Given the description of an element on the screen output the (x, y) to click on. 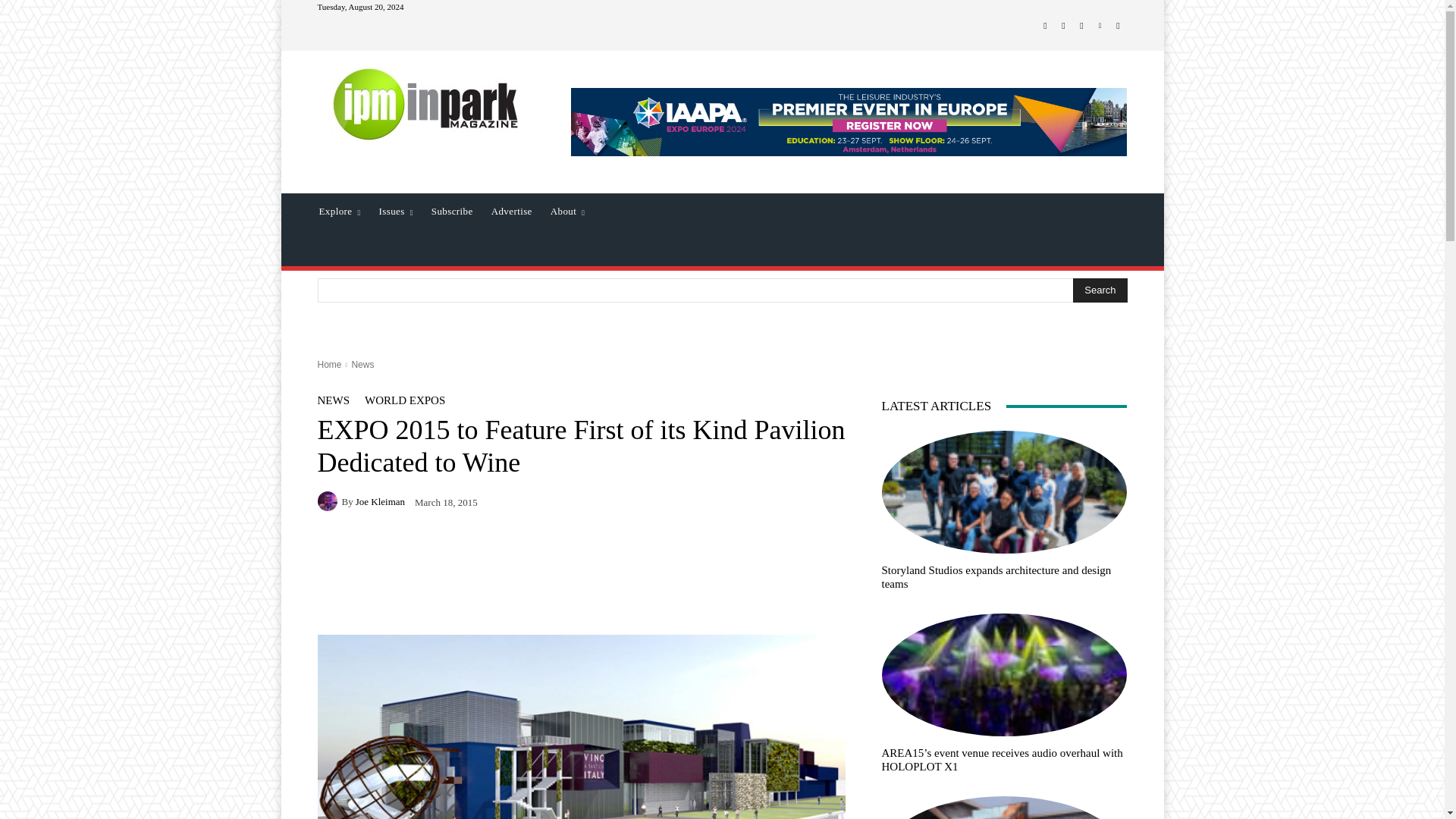
Vimeo (1099, 25)
Facebook (1044, 25)
Twitter (1080, 25)
Youtube (1117, 25)
Instagram (1062, 25)
